Given the description of an element on the screen output the (x, y) to click on. 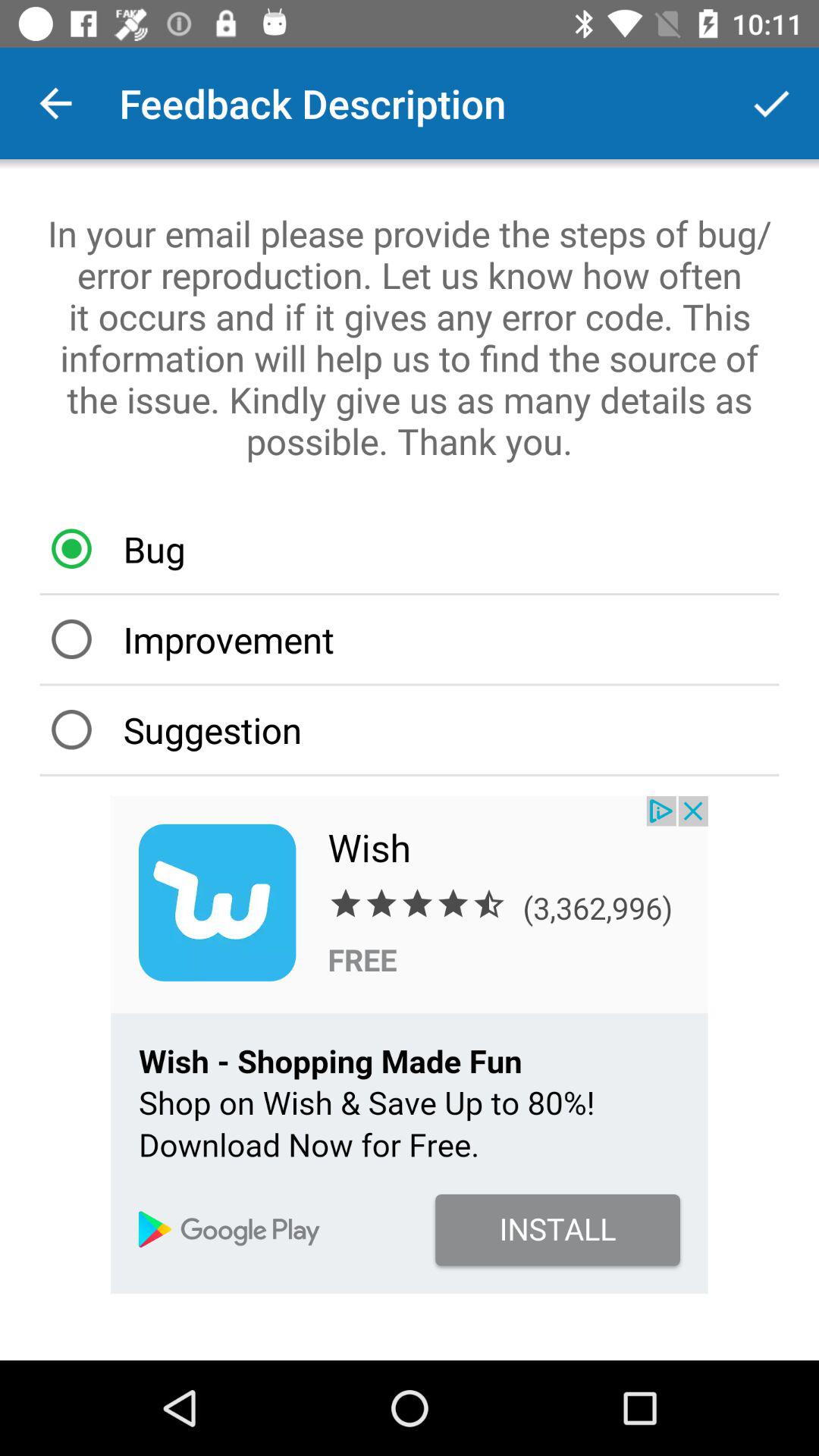
go to advertisements website (409, 1044)
